Given the description of an element on the screen output the (x, y) to click on. 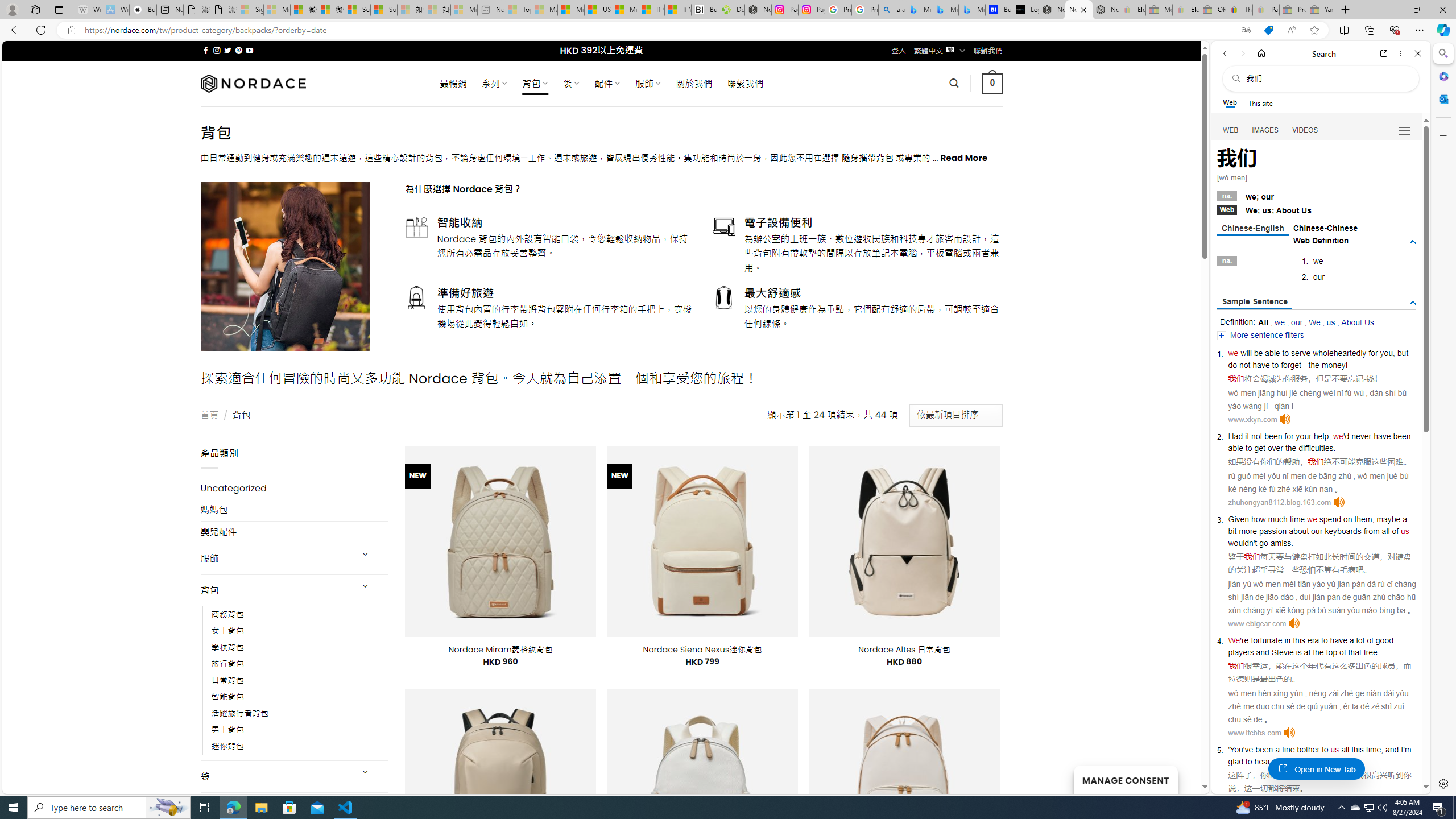
fortunate (1266, 640)
a (1277, 749)
amiss (1280, 542)
top (1331, 651)
this (1357, 749)
